Given the description of an element on the screen output the (x, y) to click on. 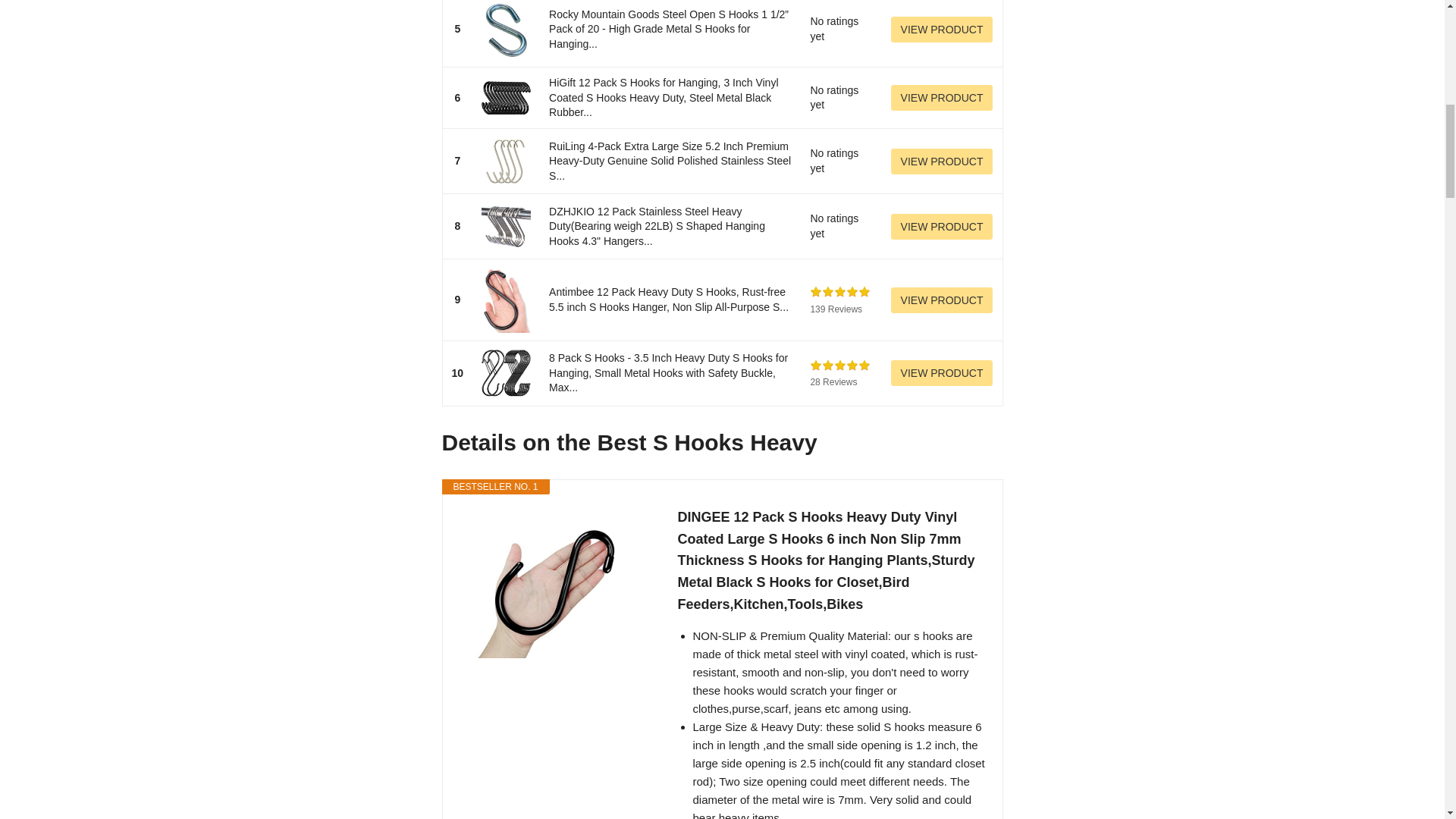
VIEW PRODUCT (941, 372)
VIEW PRODUCT (941, 161)
VIEW PRODUCT (941, 226)
VIEW PRODUCT (941, 97)
VIEW PRODUCT (941, 299)
VIEW PRODUCT (941, 29)
